Given the description of an element on the screen output the (x, y) to click on. 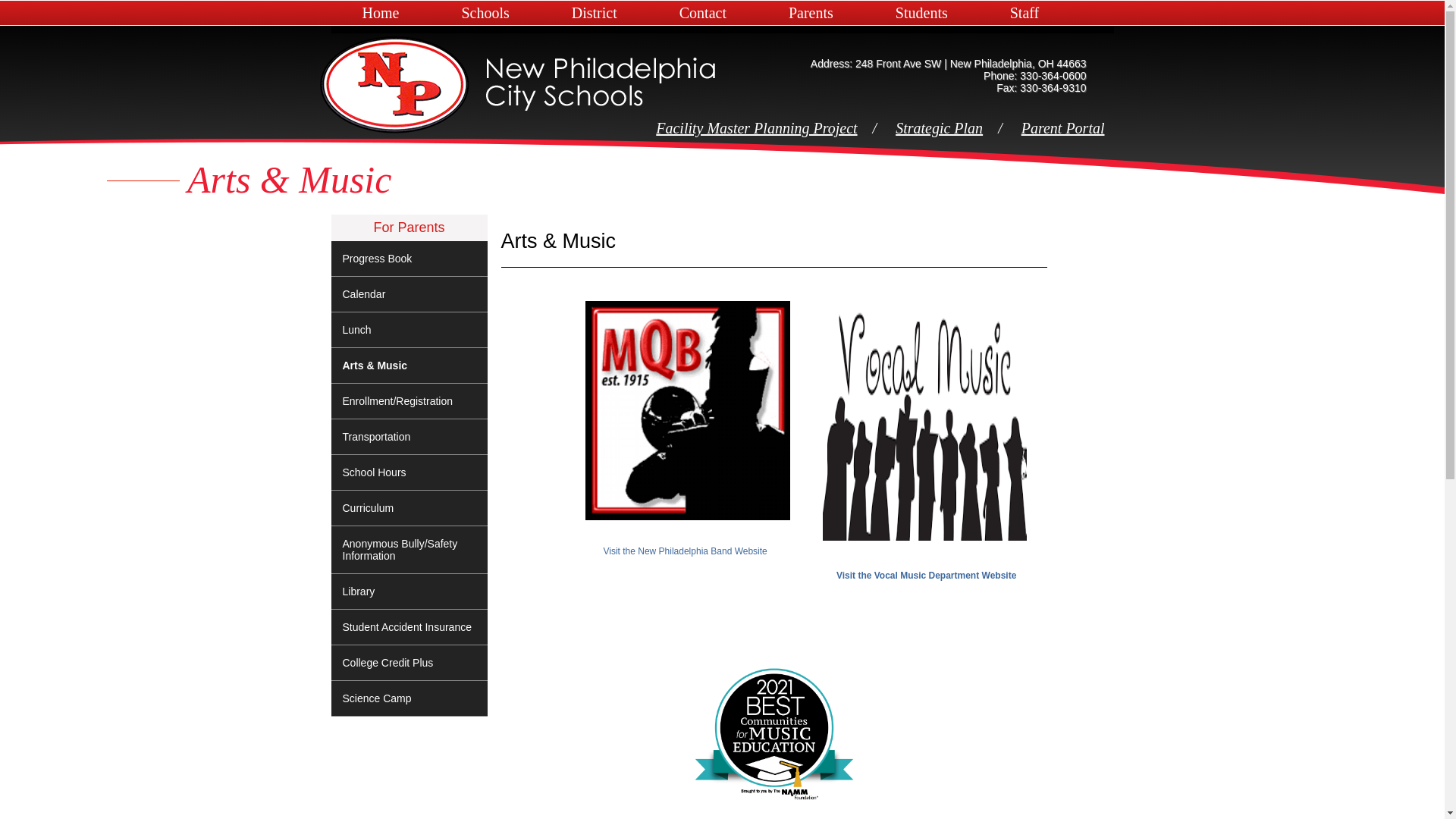
Home (380, 12)
Schools (484, 12)
Contact (702, 12)
District (594, 12)
Parents (810, 12)
